Given the description of an element on the screen output the (x, y) to click on. 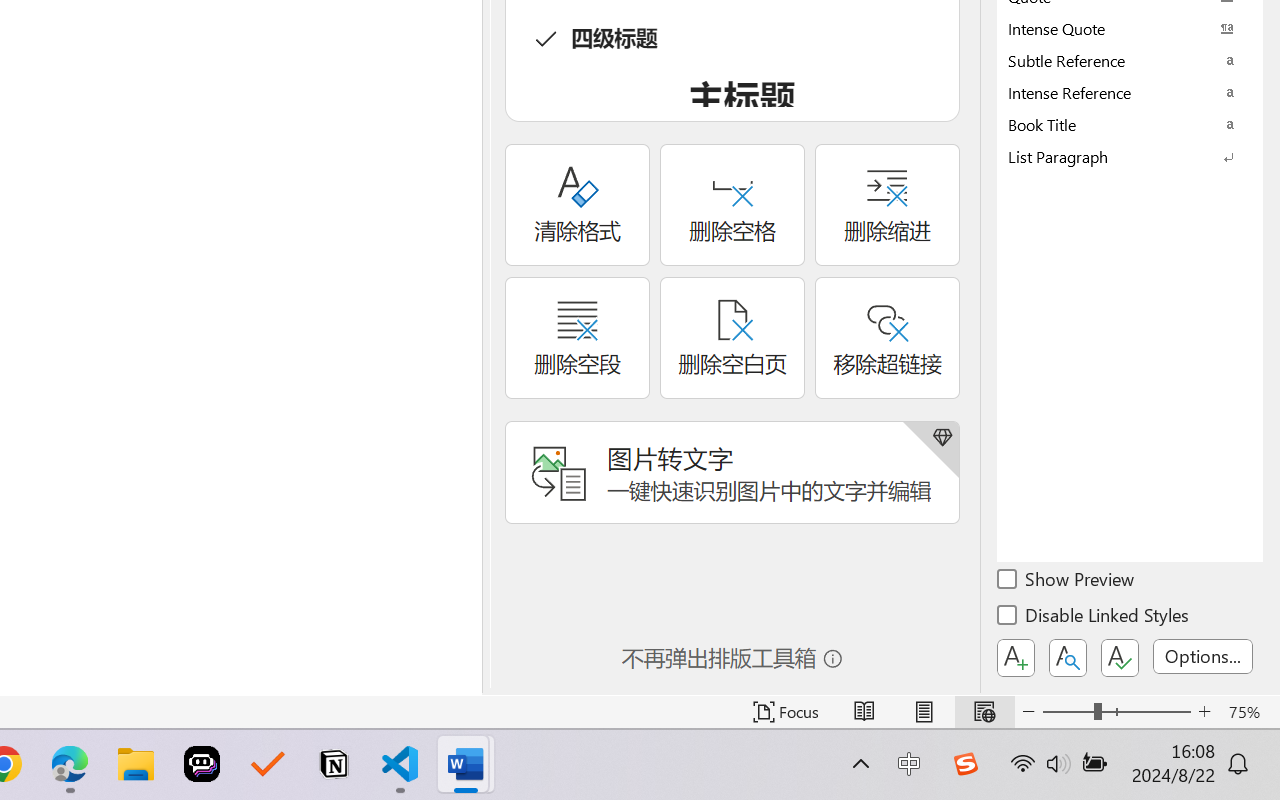
Zoom Out (1067, 712)
Options... (1203, 656)
Web Layout (984, 712)
Class: NetUIButton (1119, 657)
Disable Linked Styles (1094, 618)
